Given the description of an element on the screen output the (x, y) to click on. 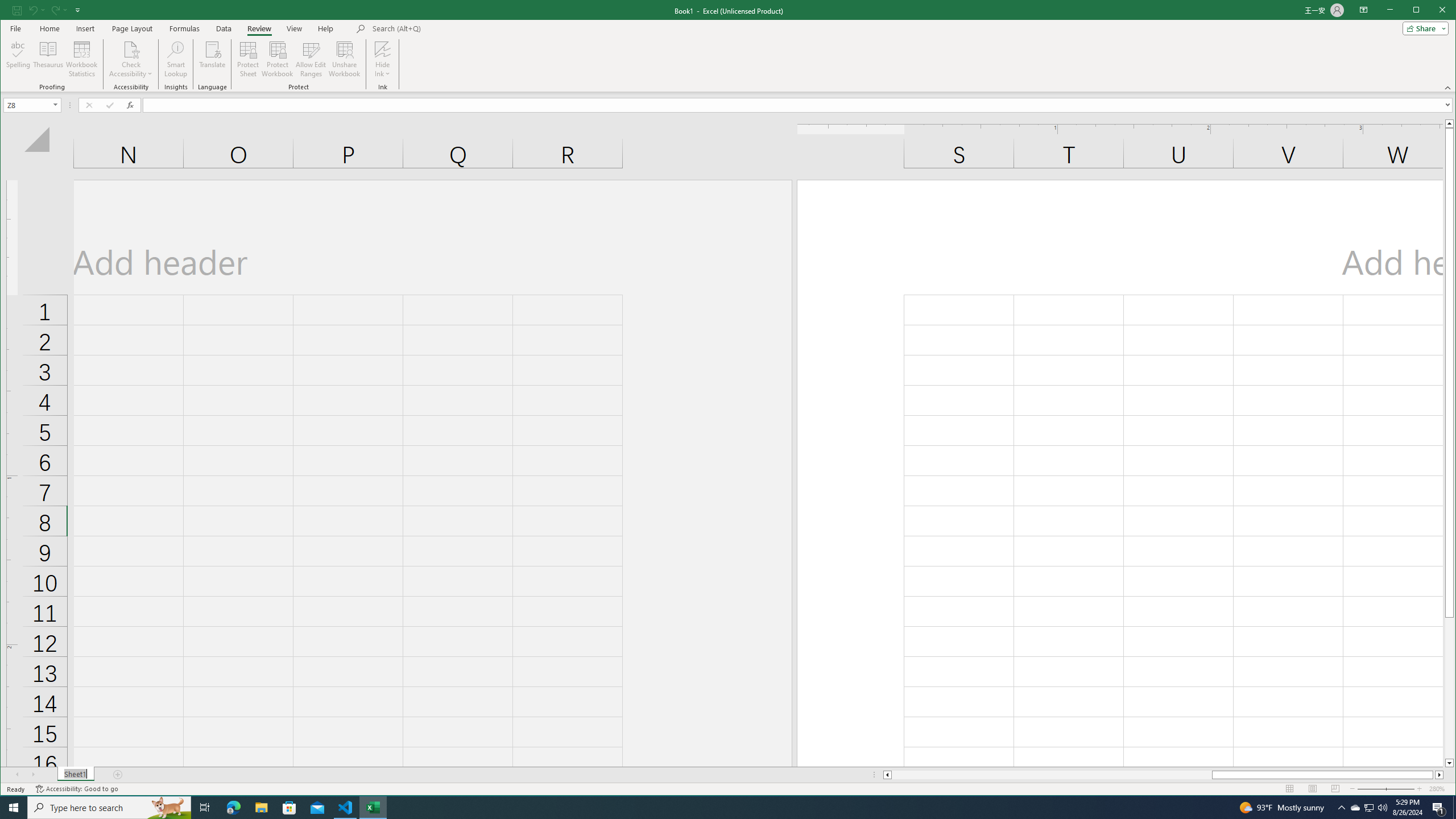
Translate (212, 59)
Thesaurus... (48, 59)
